Given the description of an element on the screen output the (x, y) to click on. 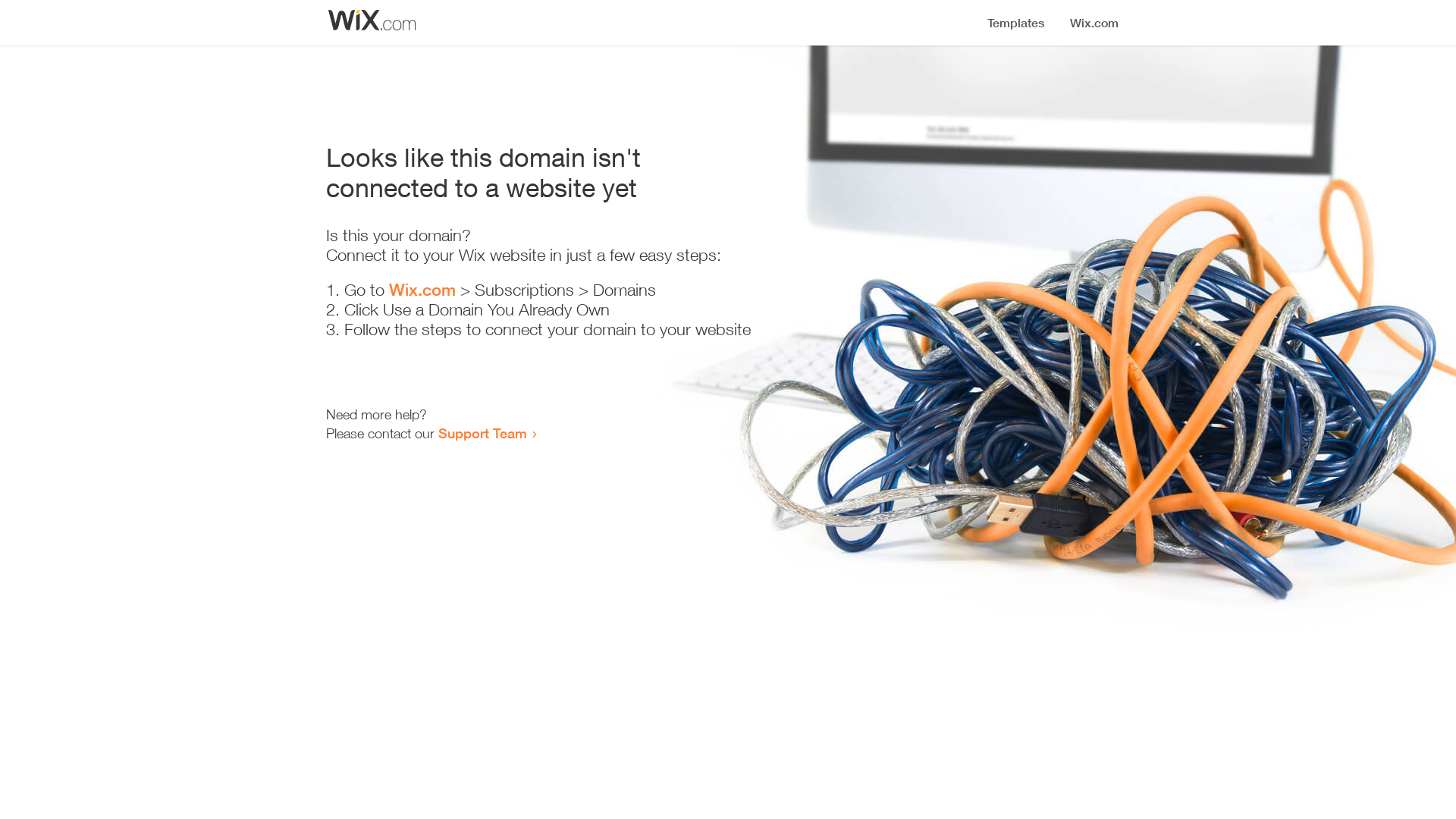
Support Team Element type: text (482, 432)
Wix.com Element type: text (422, 289)
